Given the description of an element on the screen output the (x, y) to click on. 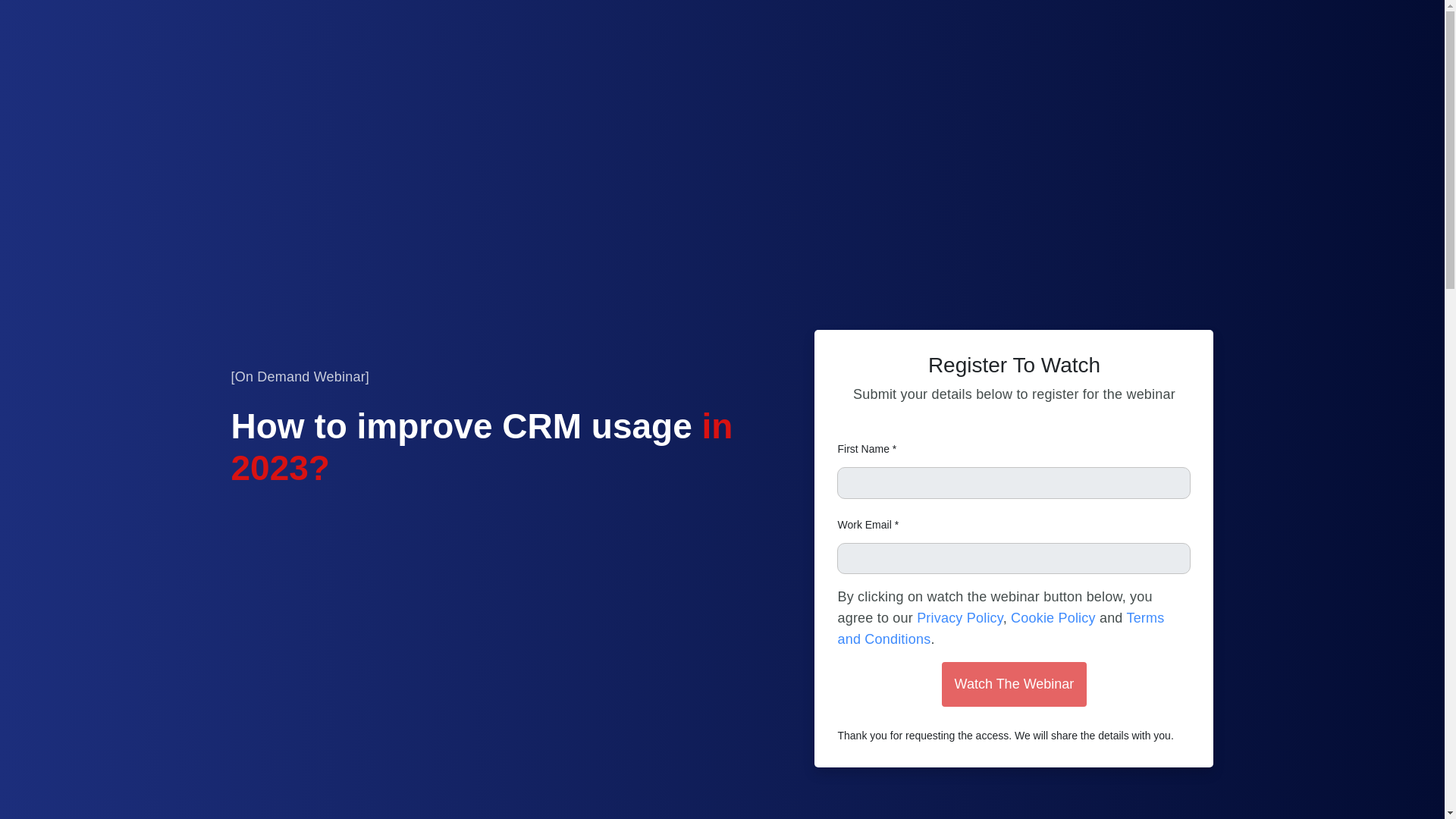
Privacy Policy (960, 617)
Watch The Webinar (1014, 683)
Terms and Conditions (1000, 628)
Cookie Policy (1053, 617)
